Given the description of an element on the screen output the (x, y) to click on. 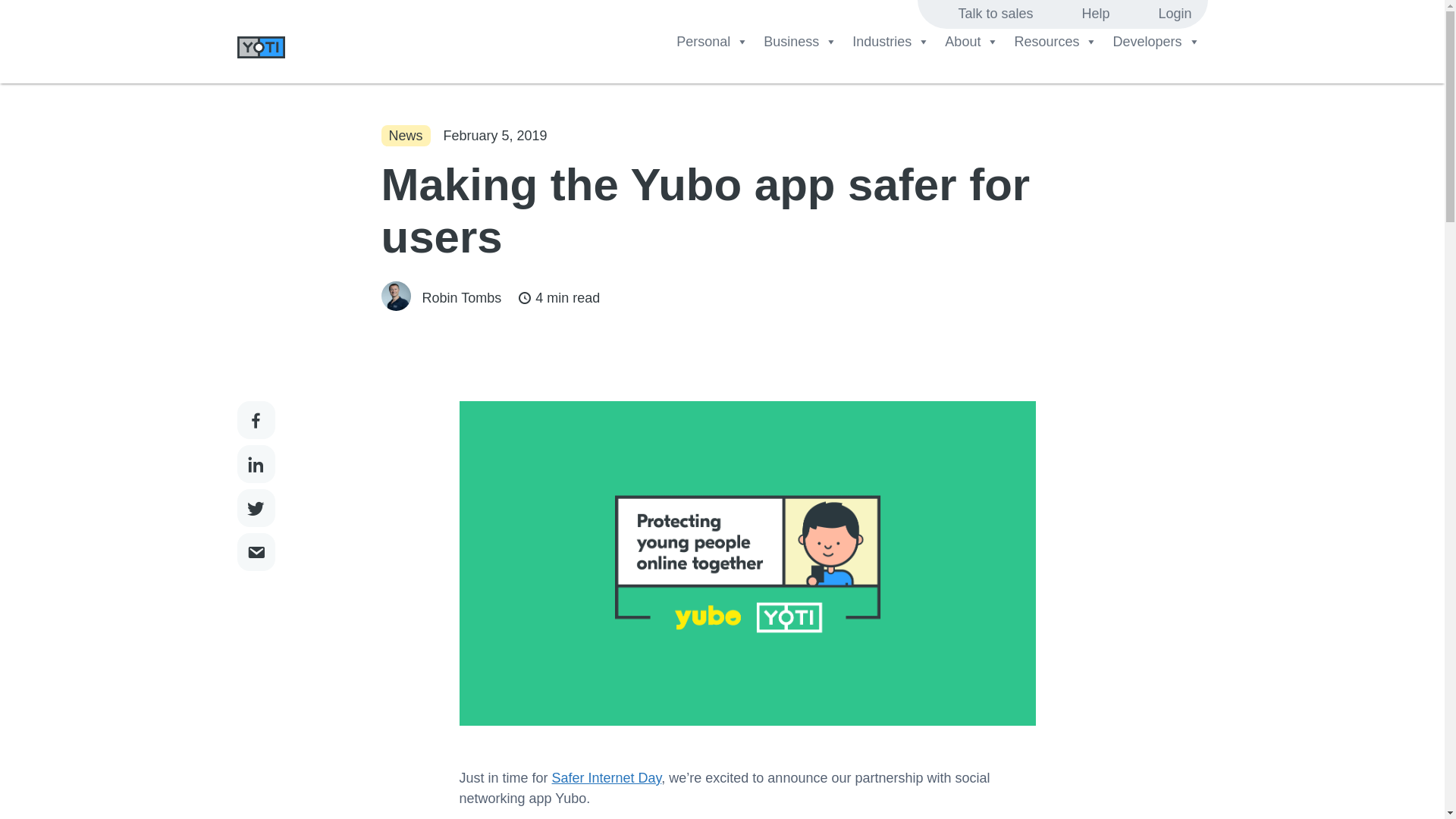
Login (1174, 13)
Talk to sales (995, 13)
Industries (890, 41)
Help (1095, 13)
Personal (711, 41)
Business (799, 41)
